Given the description of an element on the screen output the (x, y) to click on. 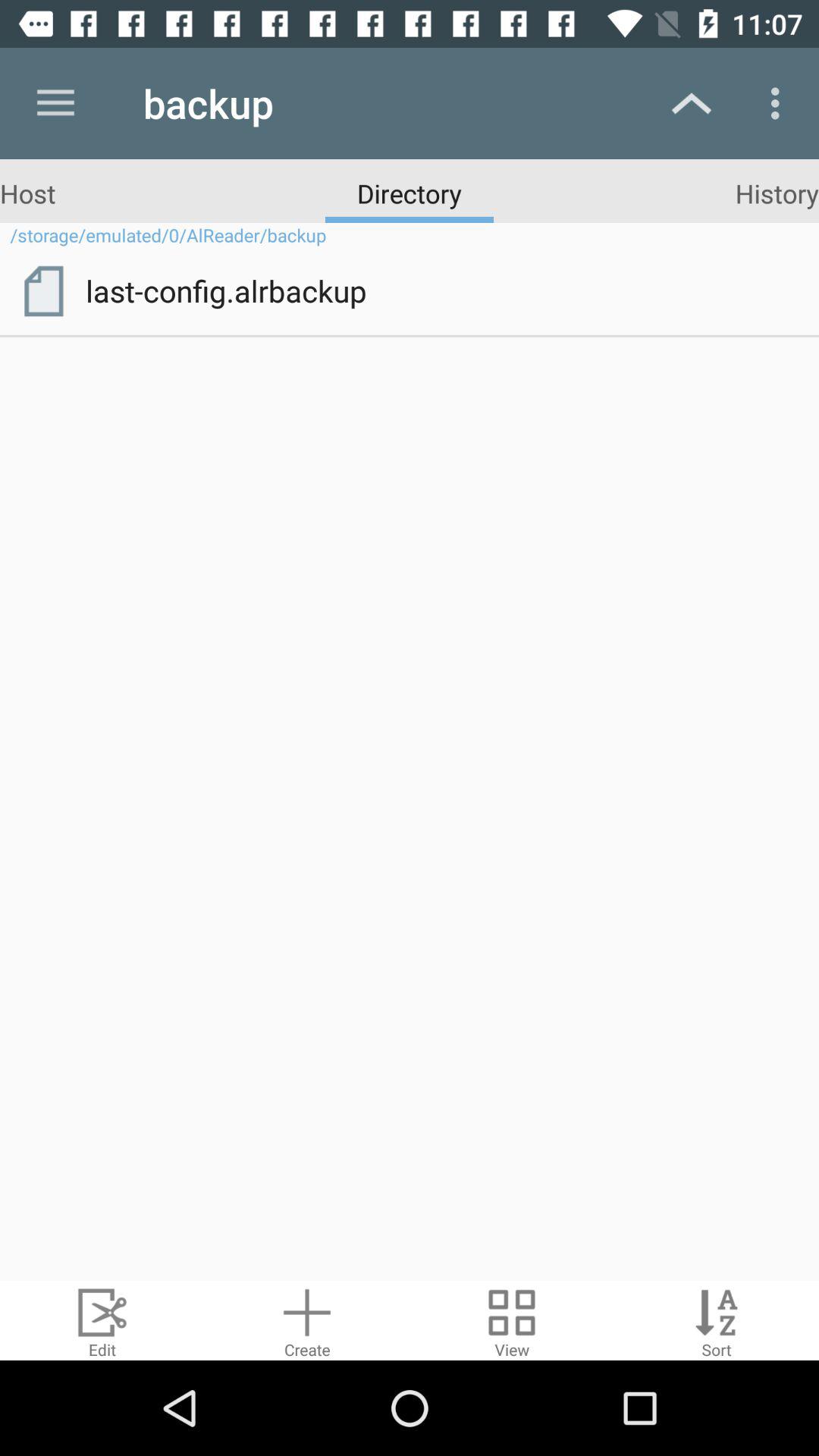
select the item above the storage emulated 0 icon (777, 193)
